Given the description of an element on the screen output the (x, y) to click on. 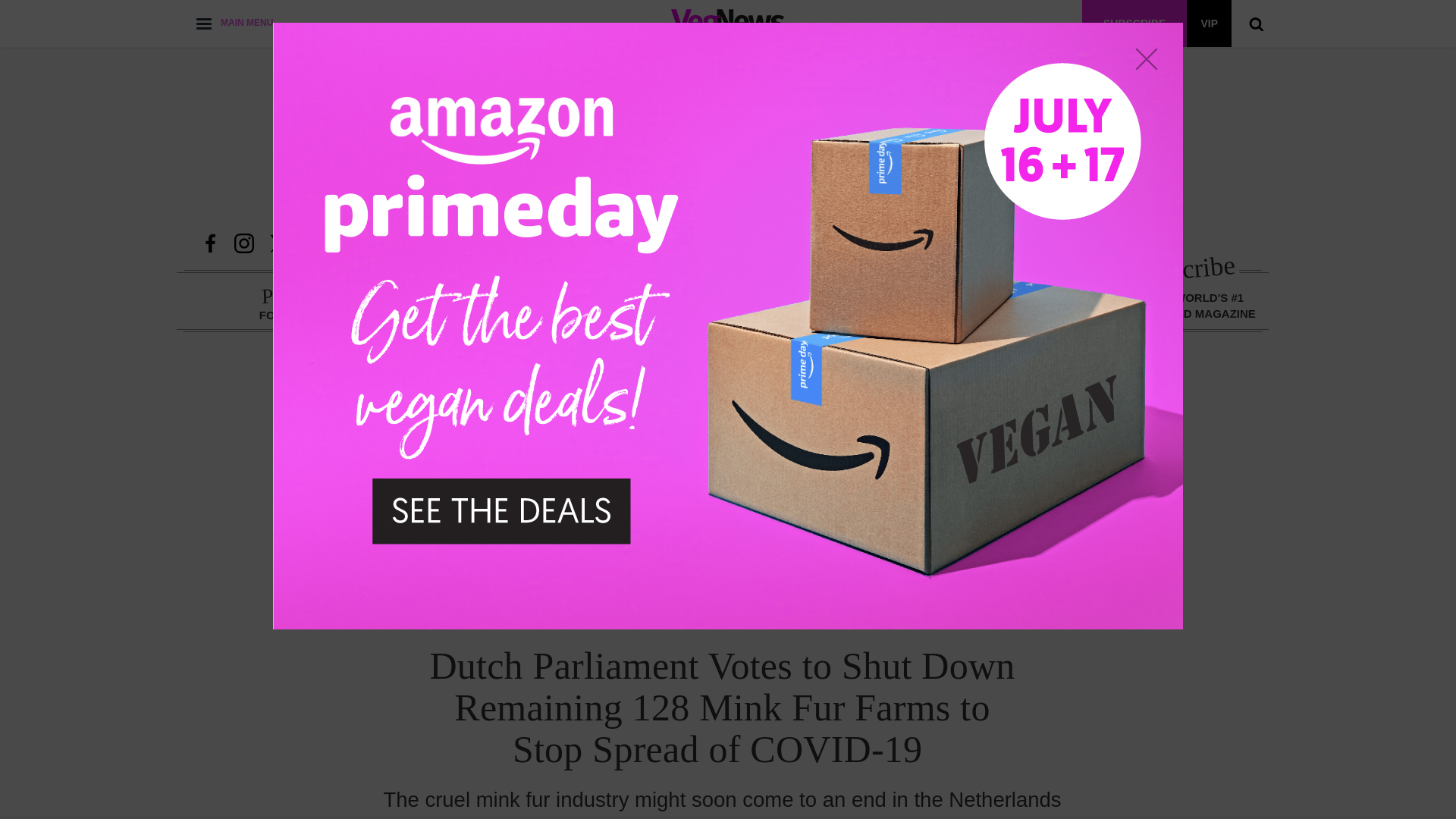
MAIN MENU (234, 23)
Become a VIP (1208, 23)
Show search (1256, 22)
